Given the description of an element on the screen output the (x, y) to click on. 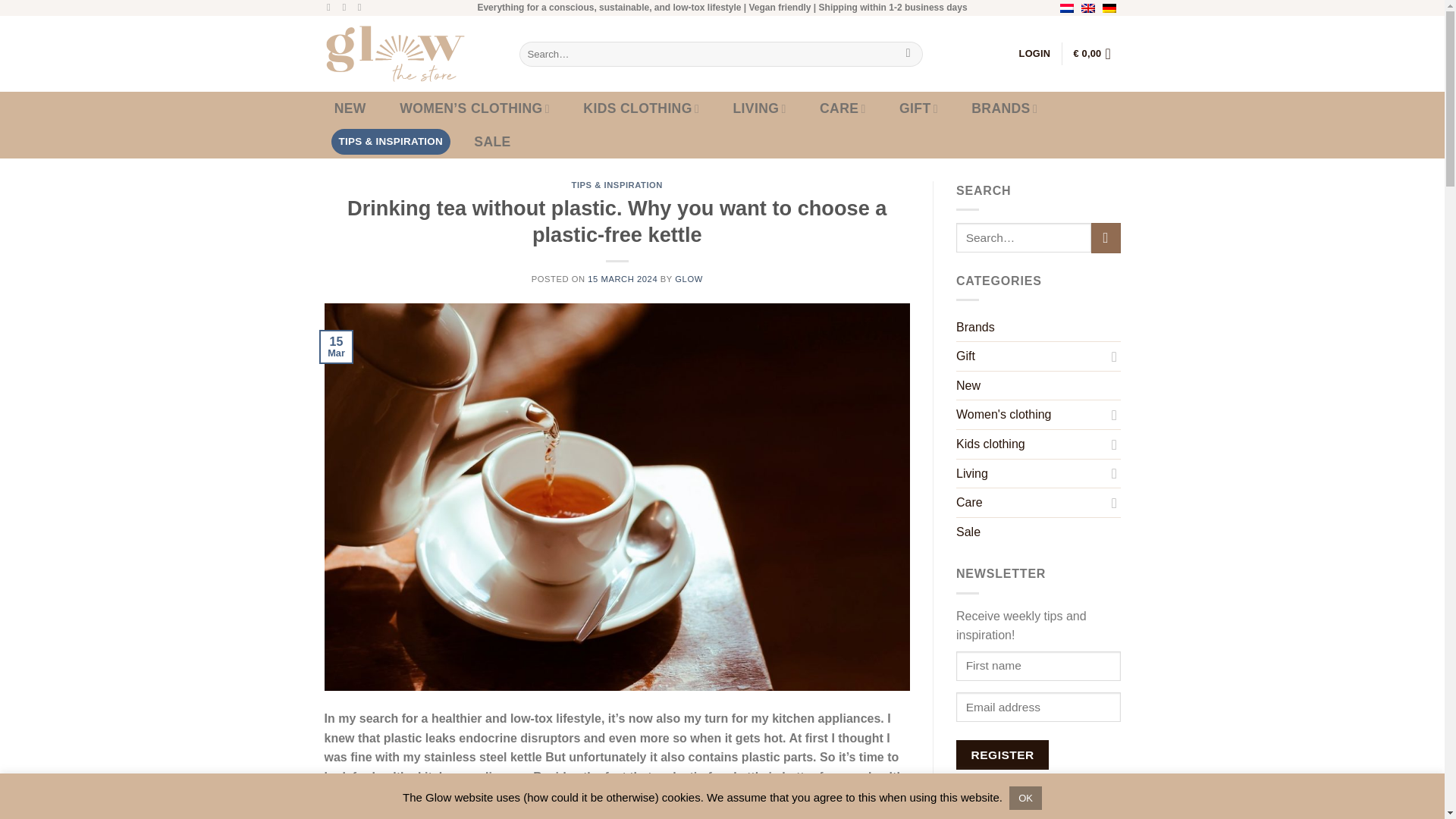
Search (907, 53)
register (1002, 754)
NEW (349, 108)
KIDS CLOTHING (641, 108)
Cart (1096, 53)
Follow on Facebook (331, 7)
Follow on Pinterest (363, 7)
LOGIN (1035, 53)
LIVING (759, 108)
Follow on Instagram (347, 7)
